Given the description of an element on the screen output the (x, y) to click on. 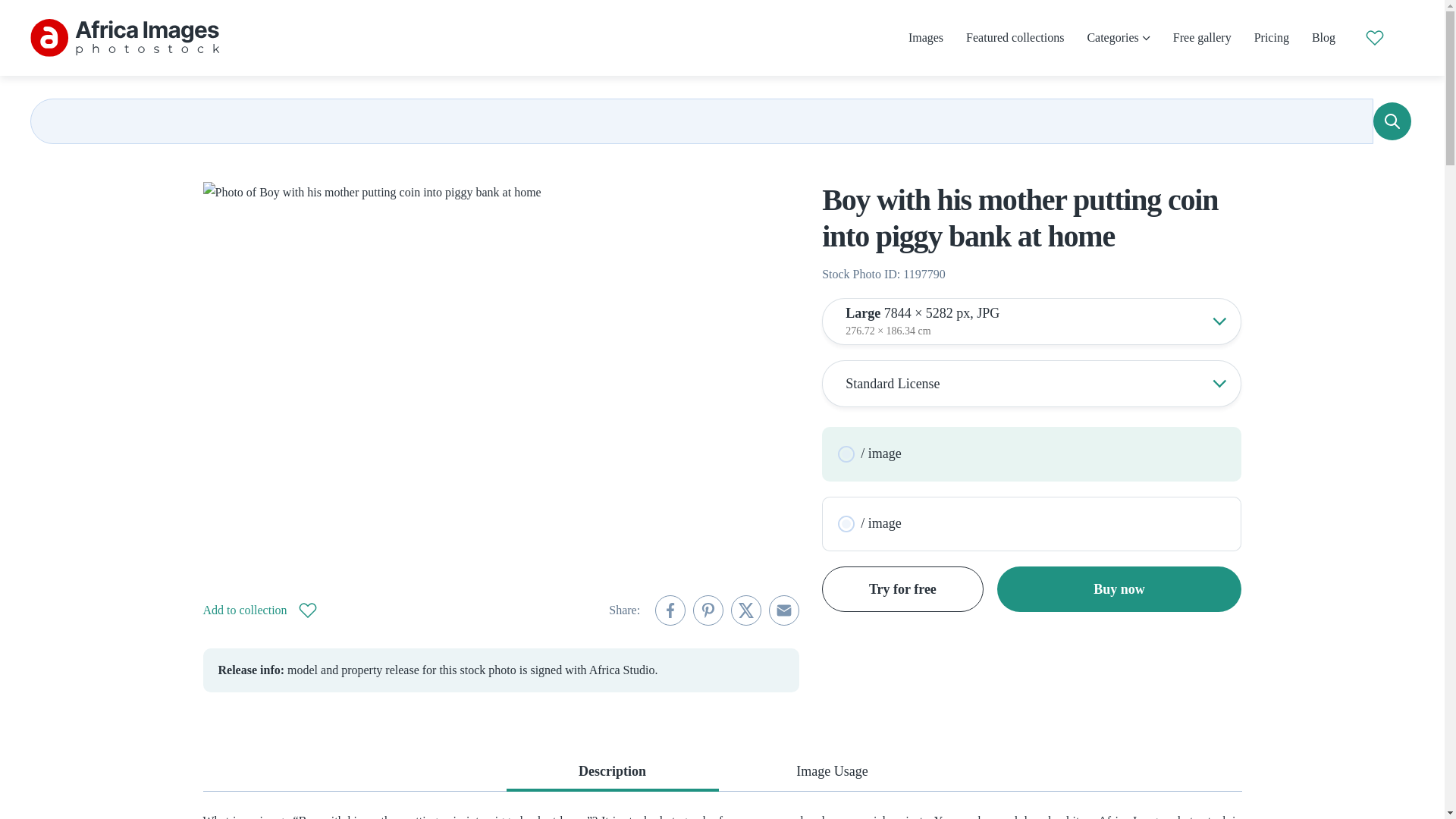
Pricing (1270, 38)
Buy now (1119, 588)
Try for free (902, 588)
Add to collection (260, 609)
Images (925, 38)
Featured collections (1015, 38)
Free gallery (1202, 38)
Categories (1118, 38)
